Given the description of an element on the screen output the (x, y) to click on. 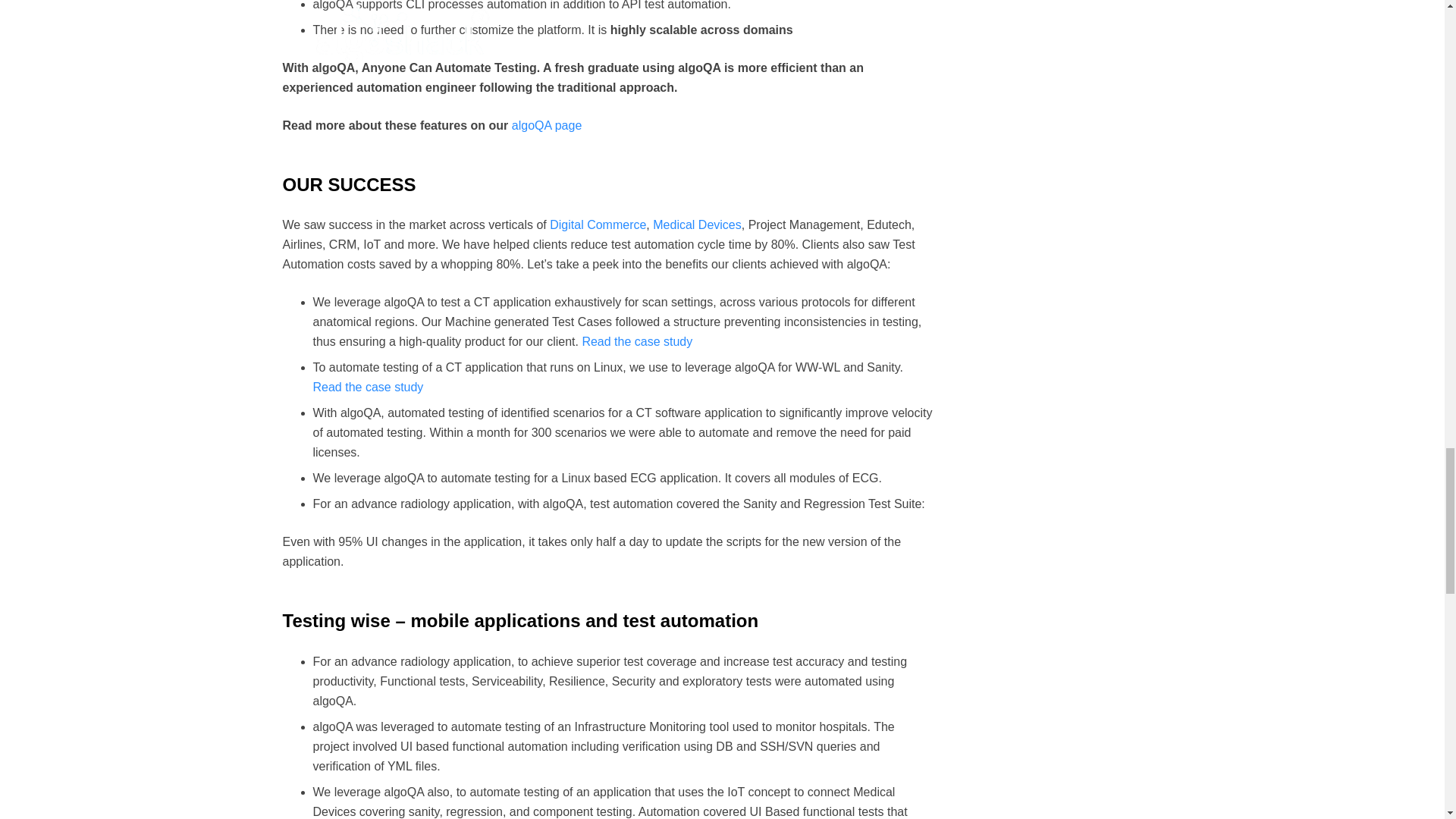
Digital Commerce (598, 224)
Read the case study (636, 341)
Medical Devices (696, 224)
algoQA page (547, 124)
Read the case study (368, 386)
